Given the description of an element on the screen output the (x, y) to click on. 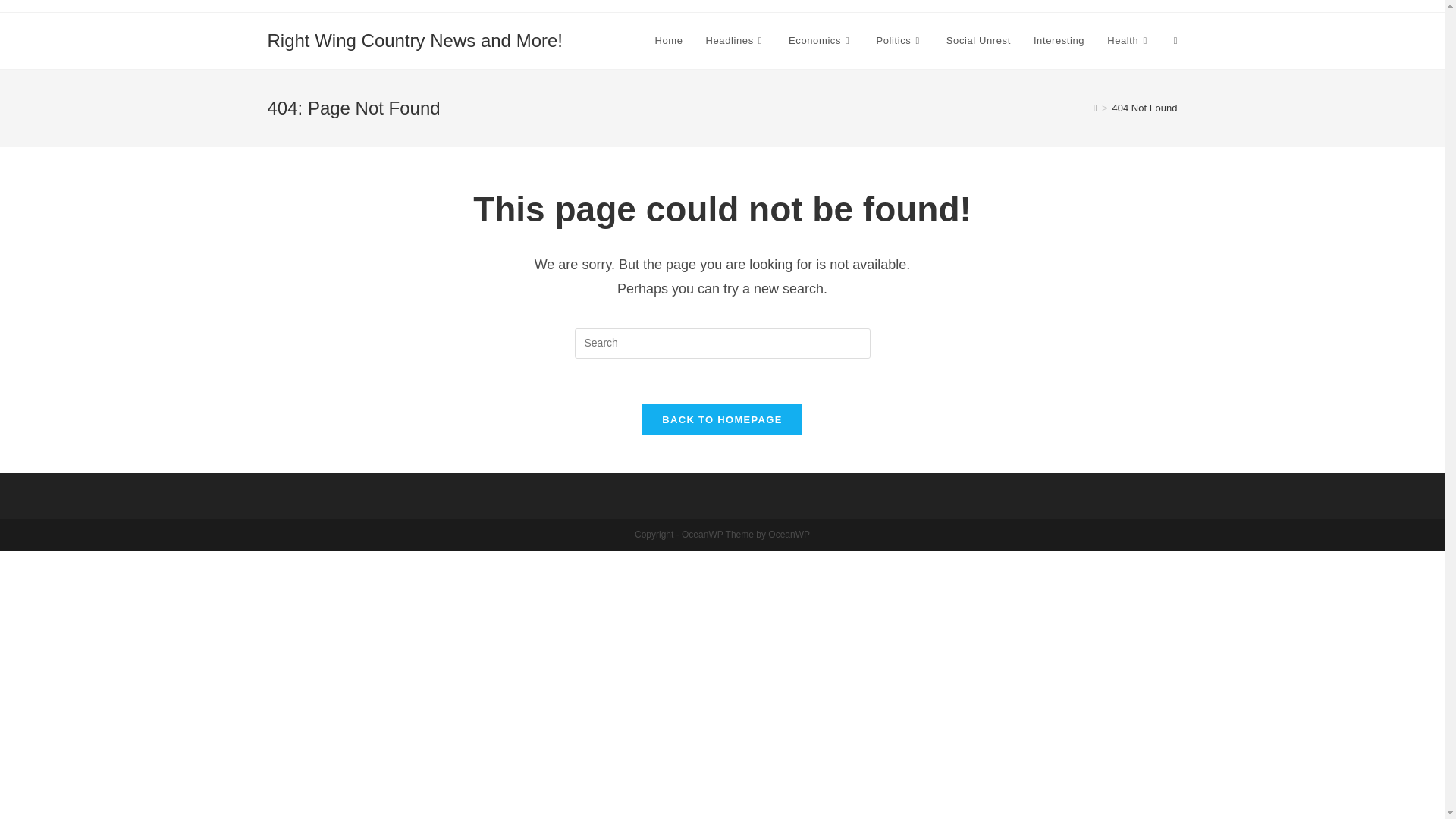
Interesting (1059, 40)
Health (1128, 40)
Right Wing Country News and More! (414, 40)
Economics (820, 40)
BACK TO HOMEPAGE (722, 419)
Social Unrest (978, 40)
Politics (899, 40)
404 Not Found (1144, 107)
Home (668, 40)
Headlines (735, 40)
